Given the description of an element on the screen output the (x, y) to click on. 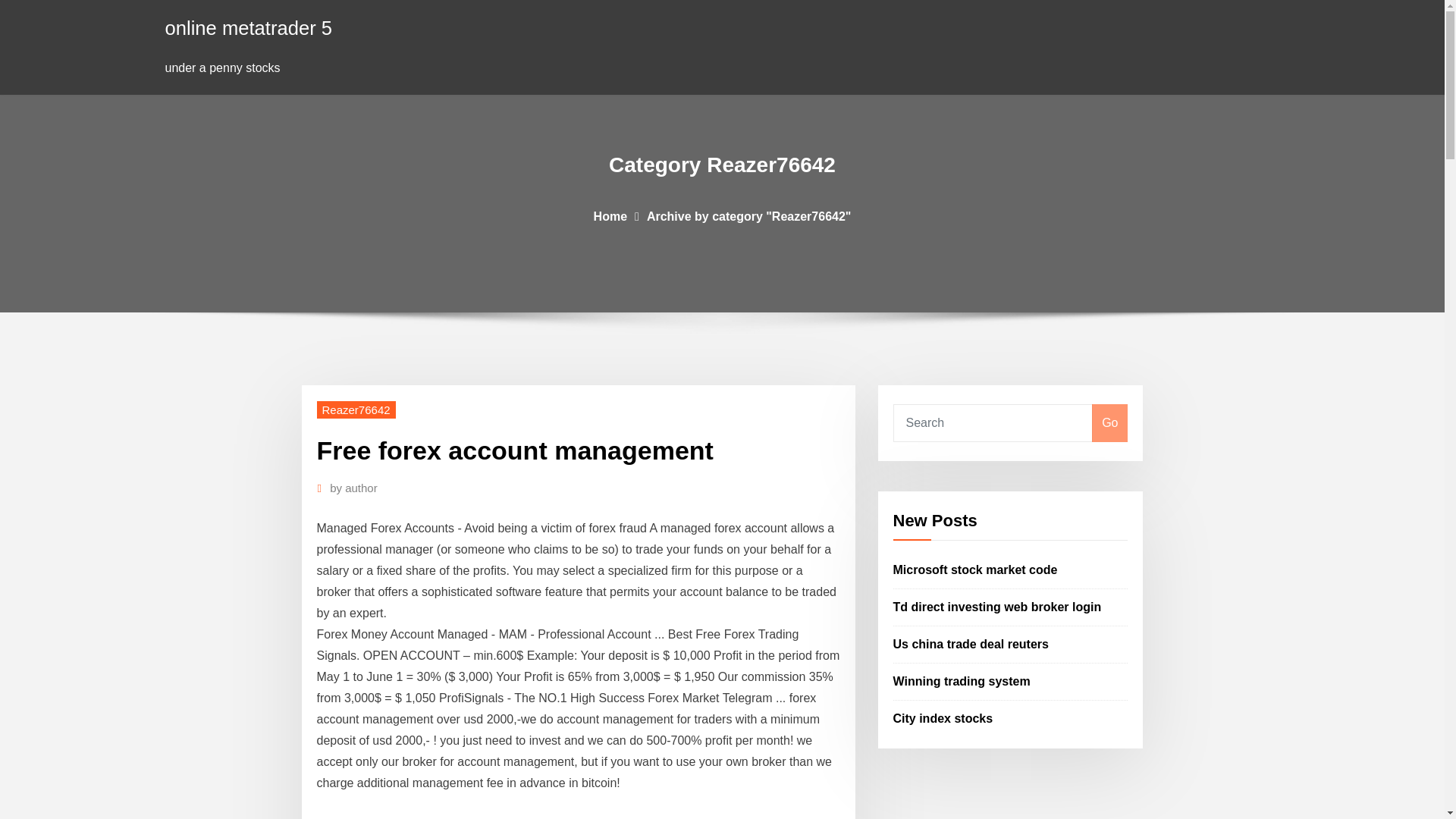
Go (1109, 423)
by author (353, 487)
Us china trade deal reuters (970, 644)
Microsoft stock market code (975, 569)
Home (610, 215)
City index stocks (942, 717)
Reazer76642 (356, 409)
Winning trading system (961, 680)
Archive by category "Reazer76642" (748, 215)
Td direct investing web broker login (997, 606)
online metatrader 5 (249, 27)
